Given the description of an element on the screen output the (x, y) to click on. 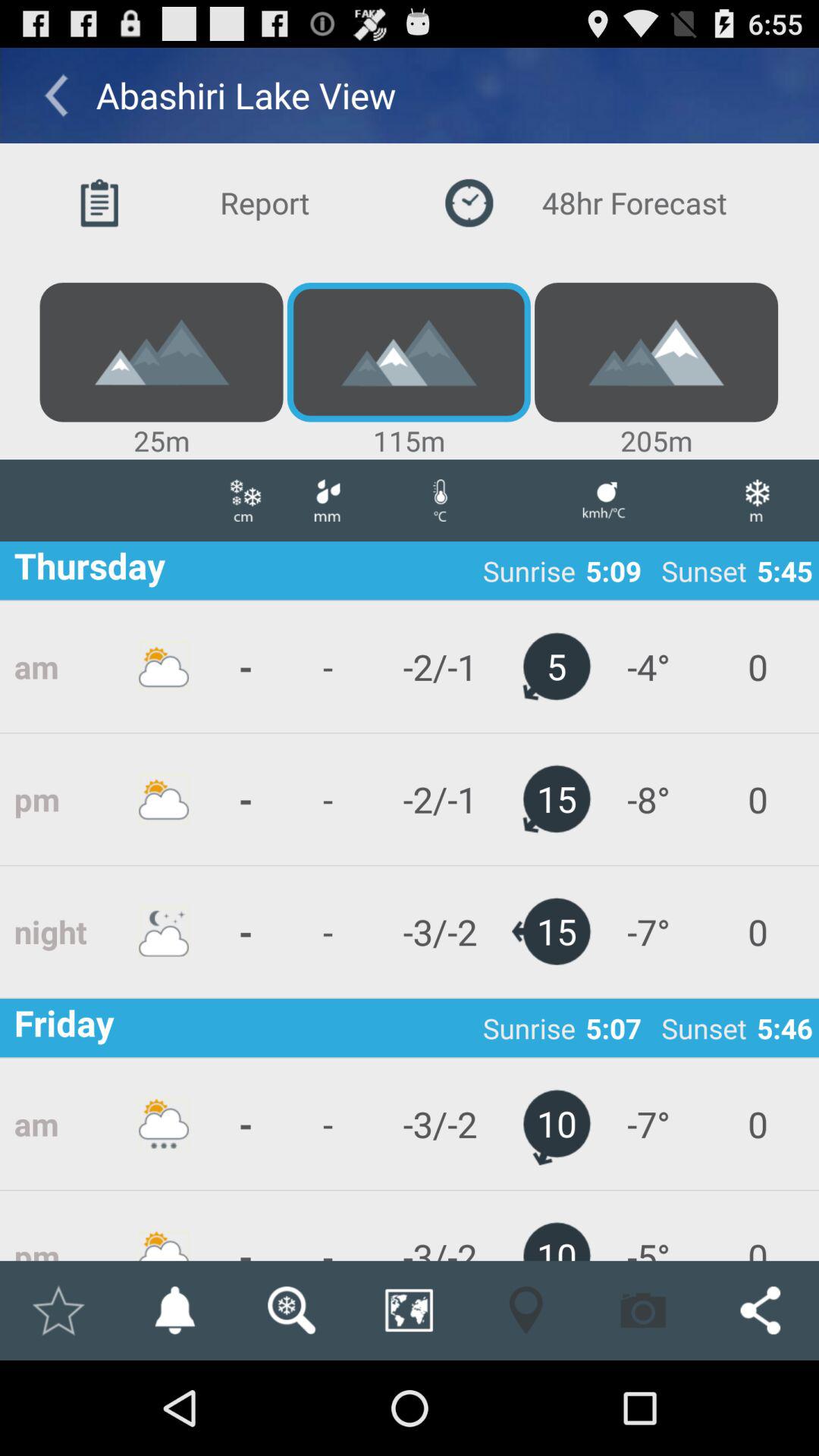
turn on app below the - icon (327, 931)
